Given the description of an element on the screen output the (x, y) to click on. 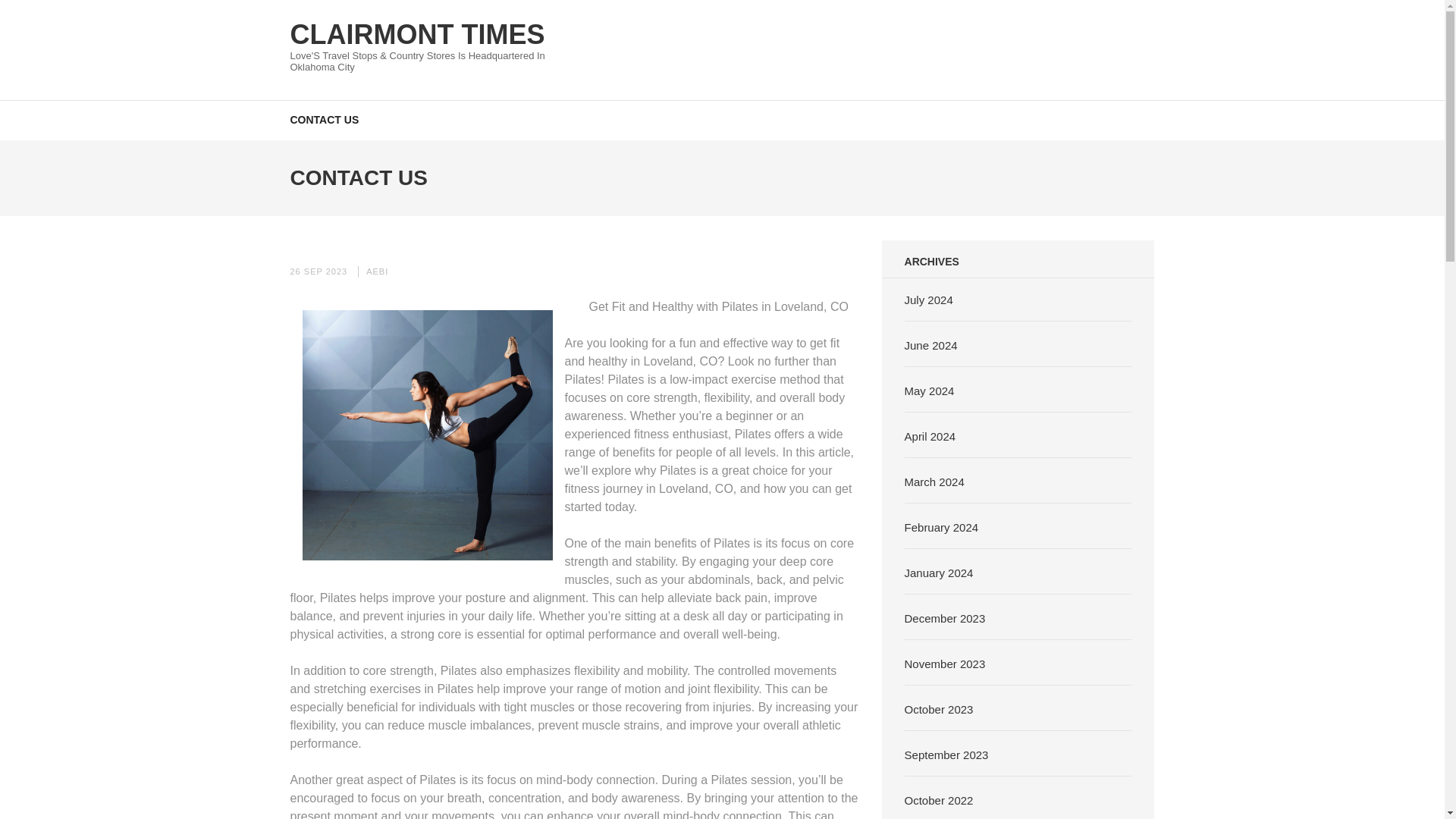
October 2022 (939, 799)
26 SEP 2023 (318, 271)
December 2023 (944, 617)
June 2024 (931, 344)
CLAIRMONT TIMES (416, 33)
November 2023 (944, 662)
February 2024 (941, 526)
May 2024 (929, 390)
April 2024 (930, 435)
September 2023 (946, 753)
